Given the description of an element on the screen output the (x, y) to click on. 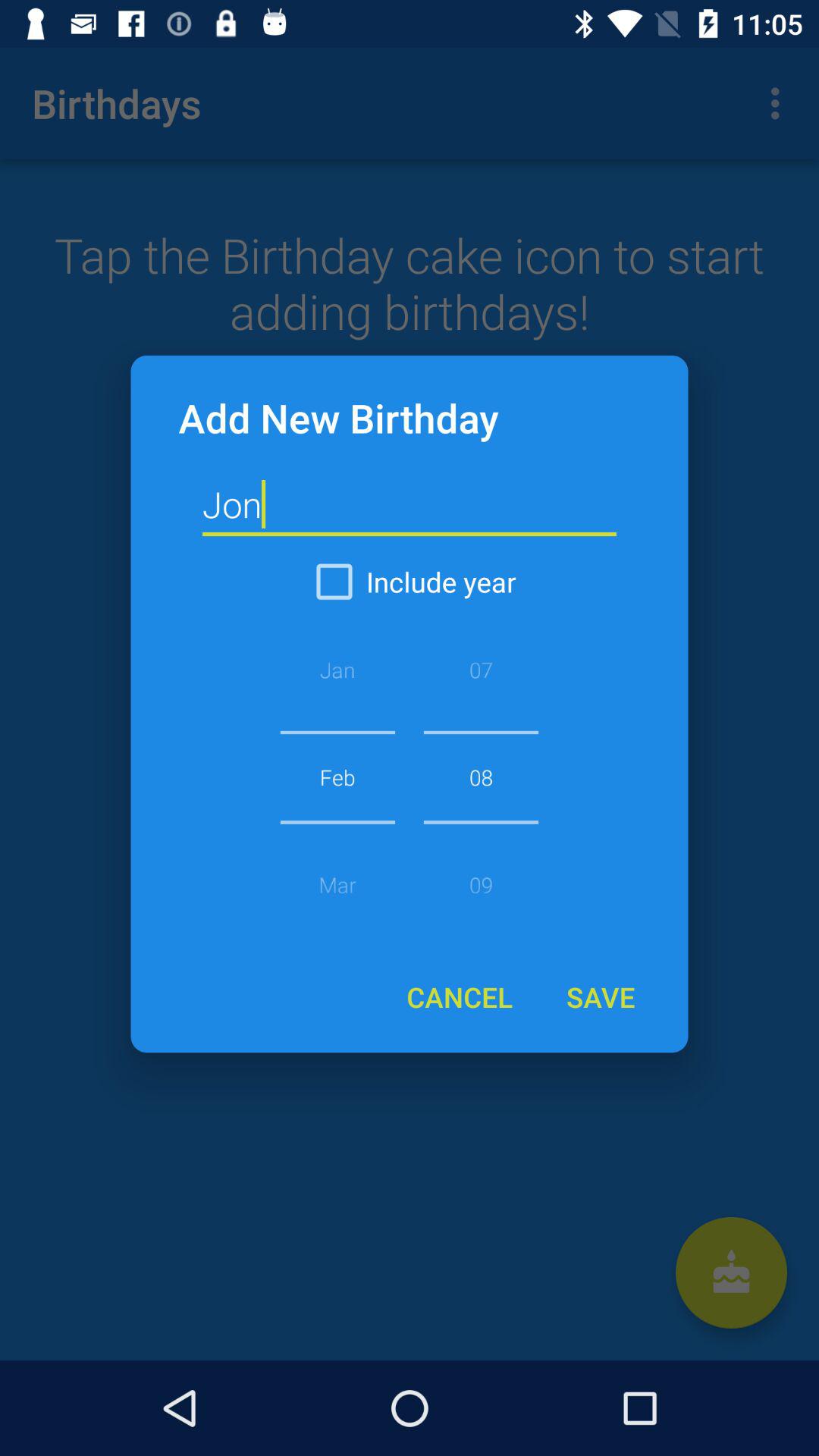
turn off the icon to the right of the cancel item (600, 996)
